Given the description of an element on the screen output the (x, y) to click on. 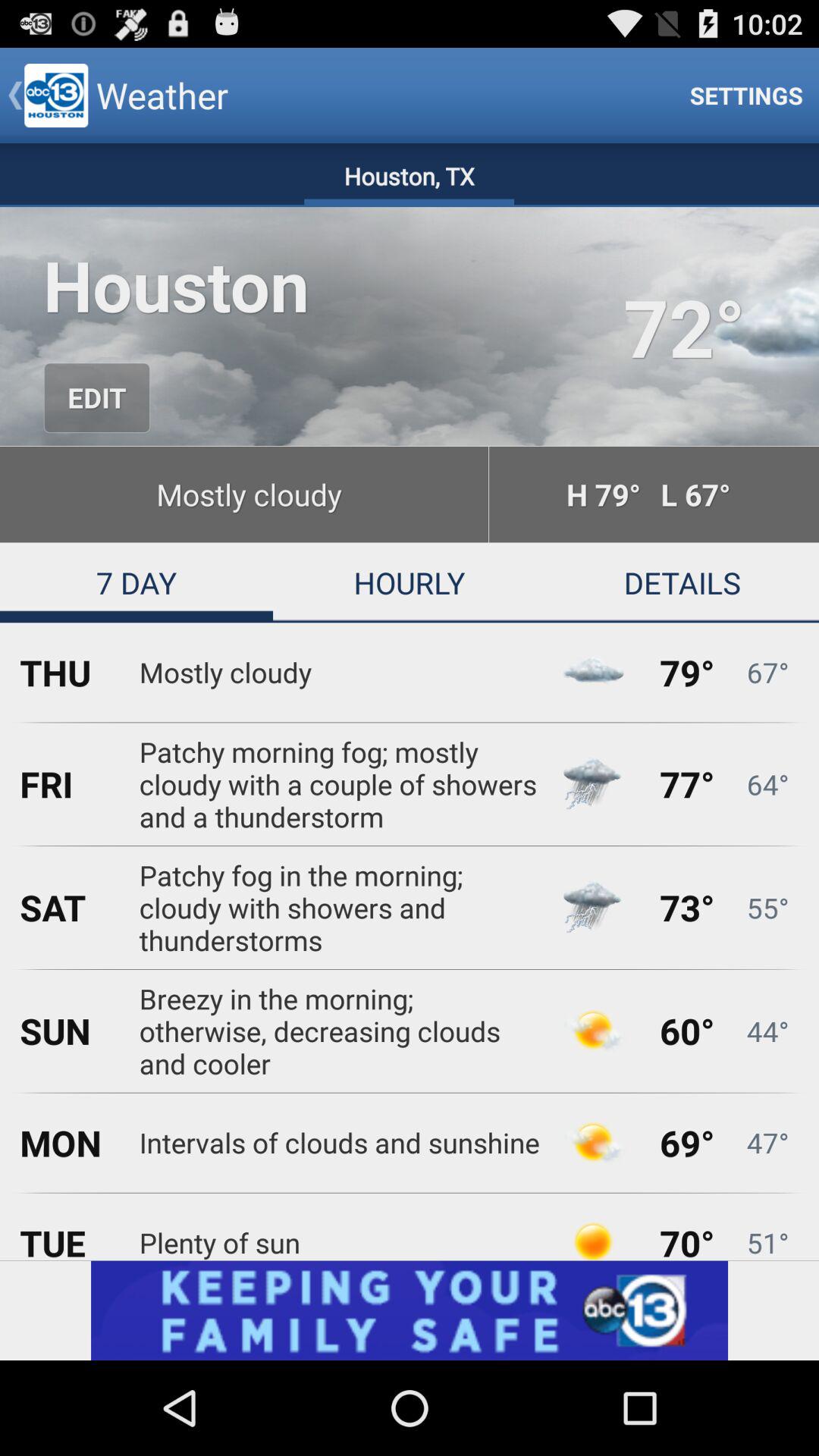
click the image on left to the text 73 degrees on the web page (592, 906)
